Given the description of an element on the screen output the (x, y) to click on. 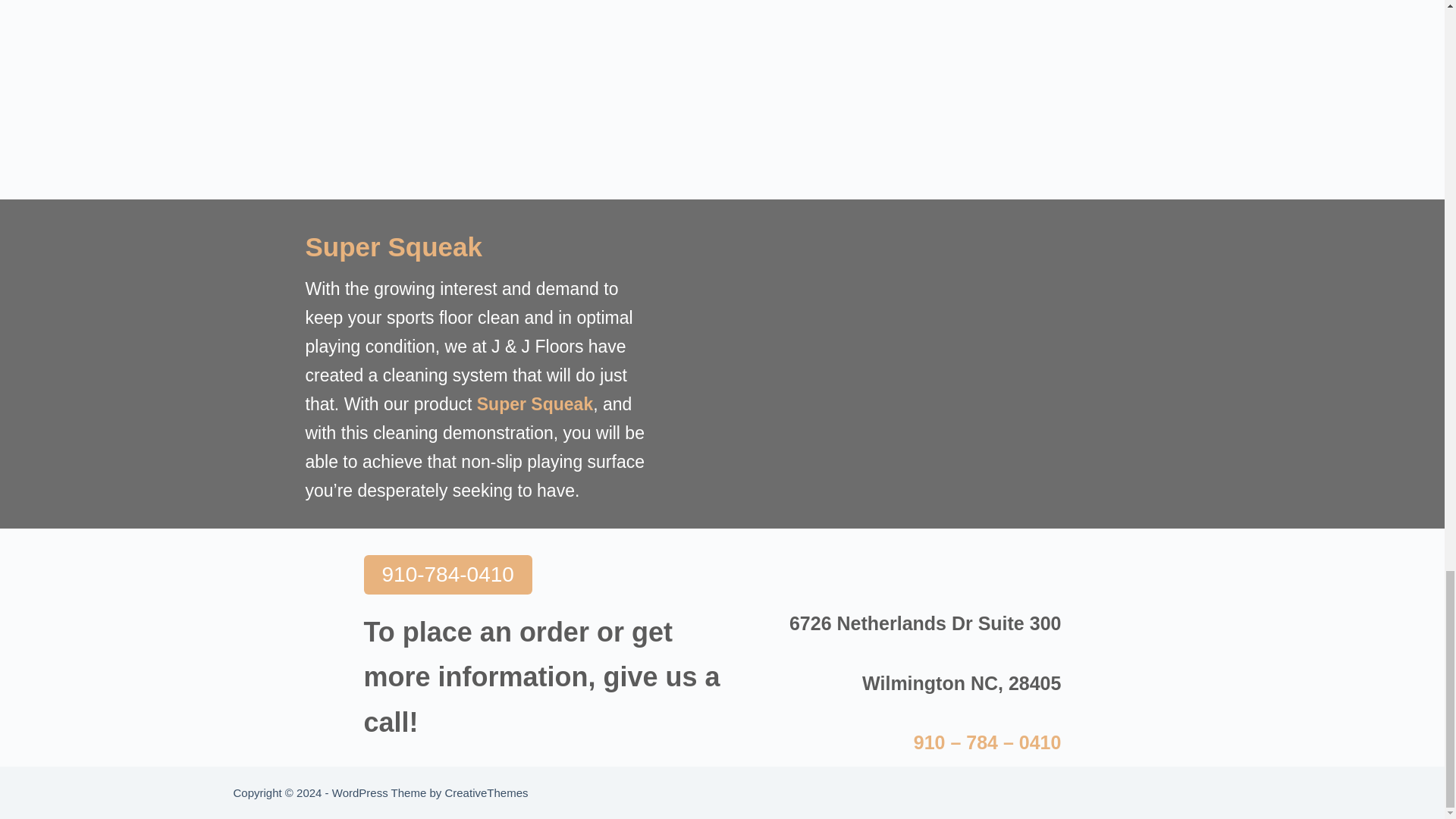
910-784-0410 (448, 574)
CreativeThemes (485, 792)
